Given the description of an element on the screen output the (x, y) to click on. 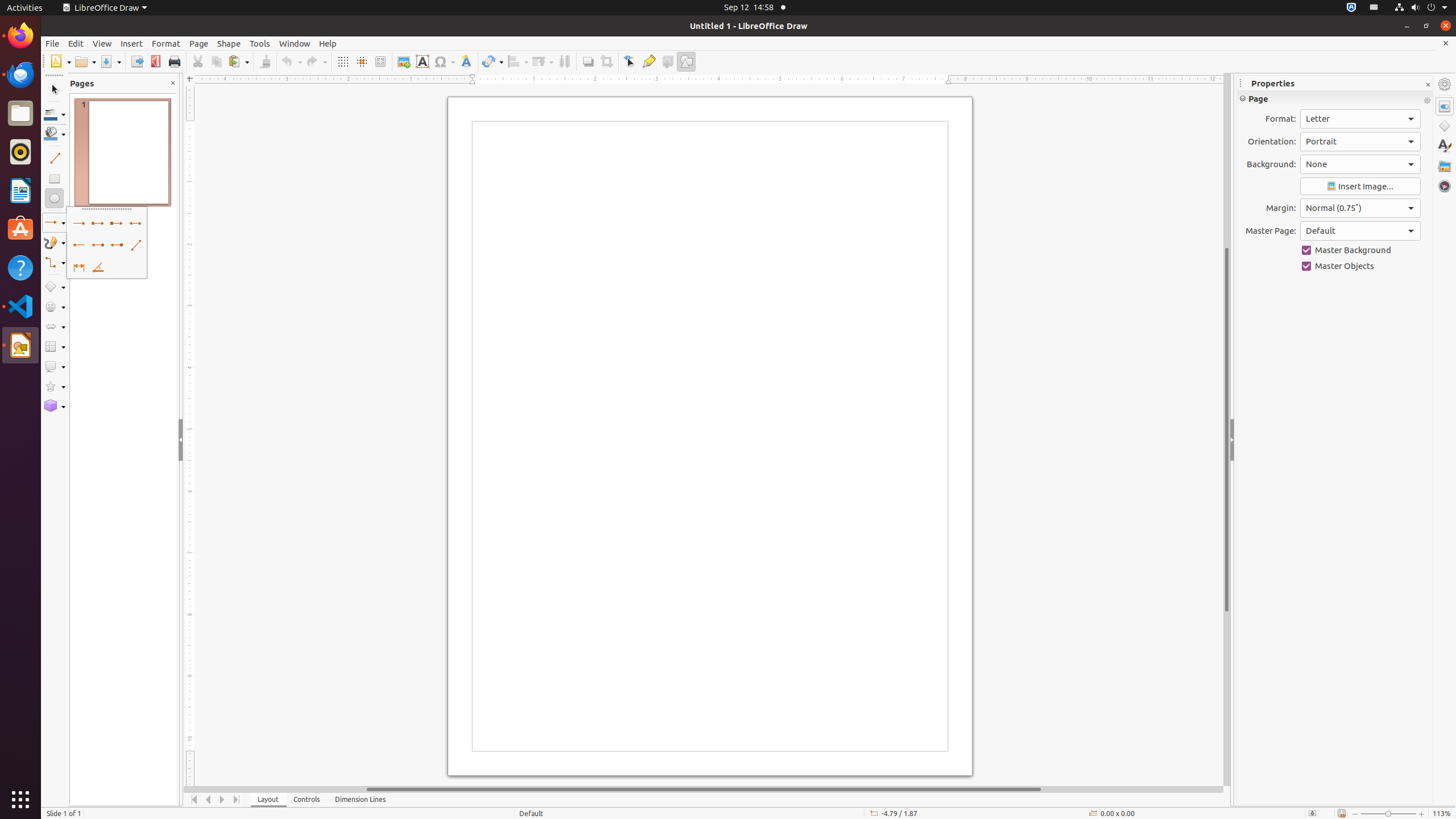
Export Element type: push-button (136, 61)
Close Sidebar Deck Element type: push-button (1427, 84)
LibreOffice Draw Element type: menu (103, 7)
Gallery Element type: radio-button (1444, 165)
Files Element type: push-button (20, 113)
